Given the description of an element on the screen output the (x, y) to click on. 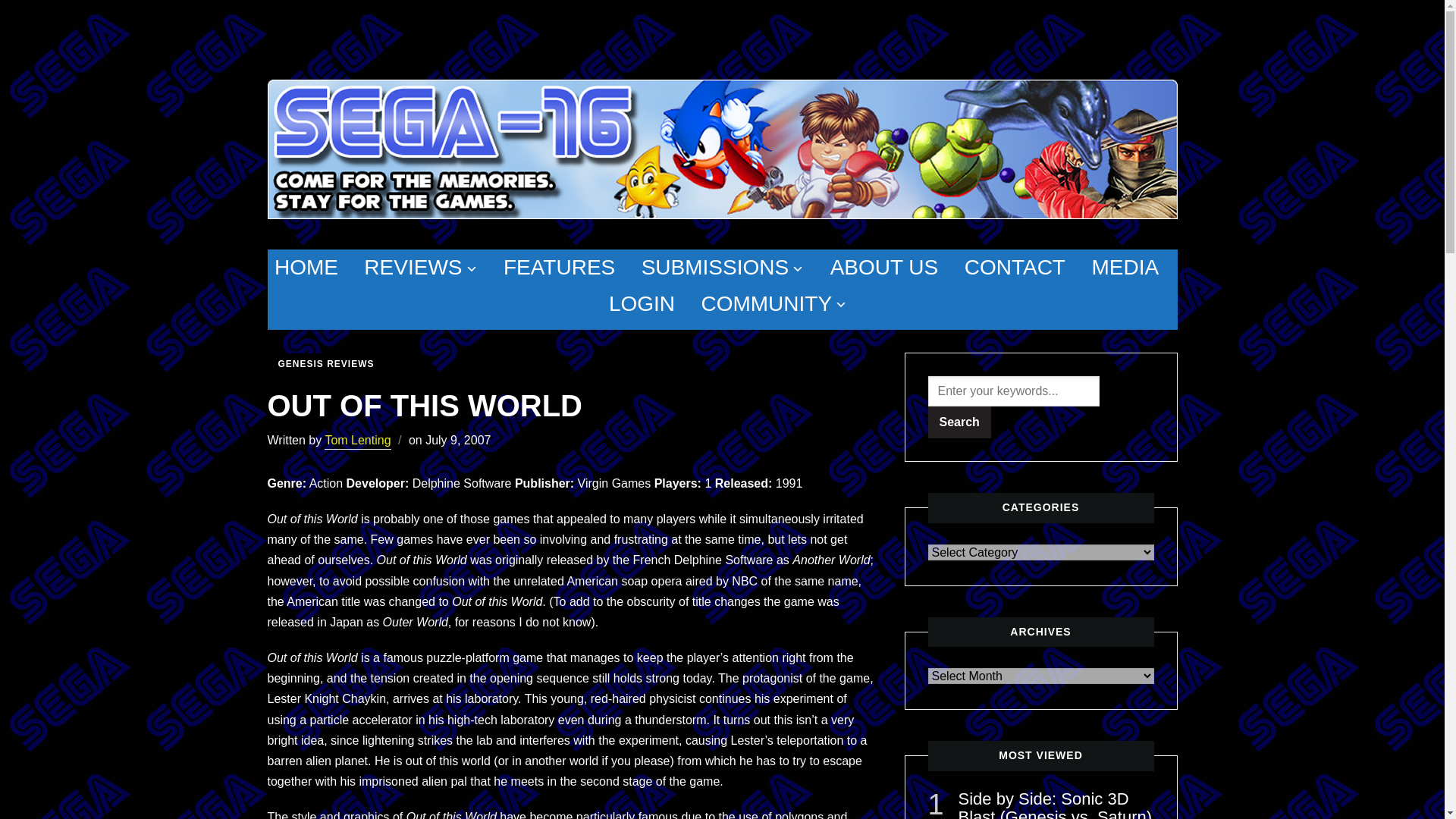
Search (959, 422)
Posts by Tom Lenting (357, 441)
Search (959, 422)
